Given the description of an element on the screen output the (x, y) to click on. 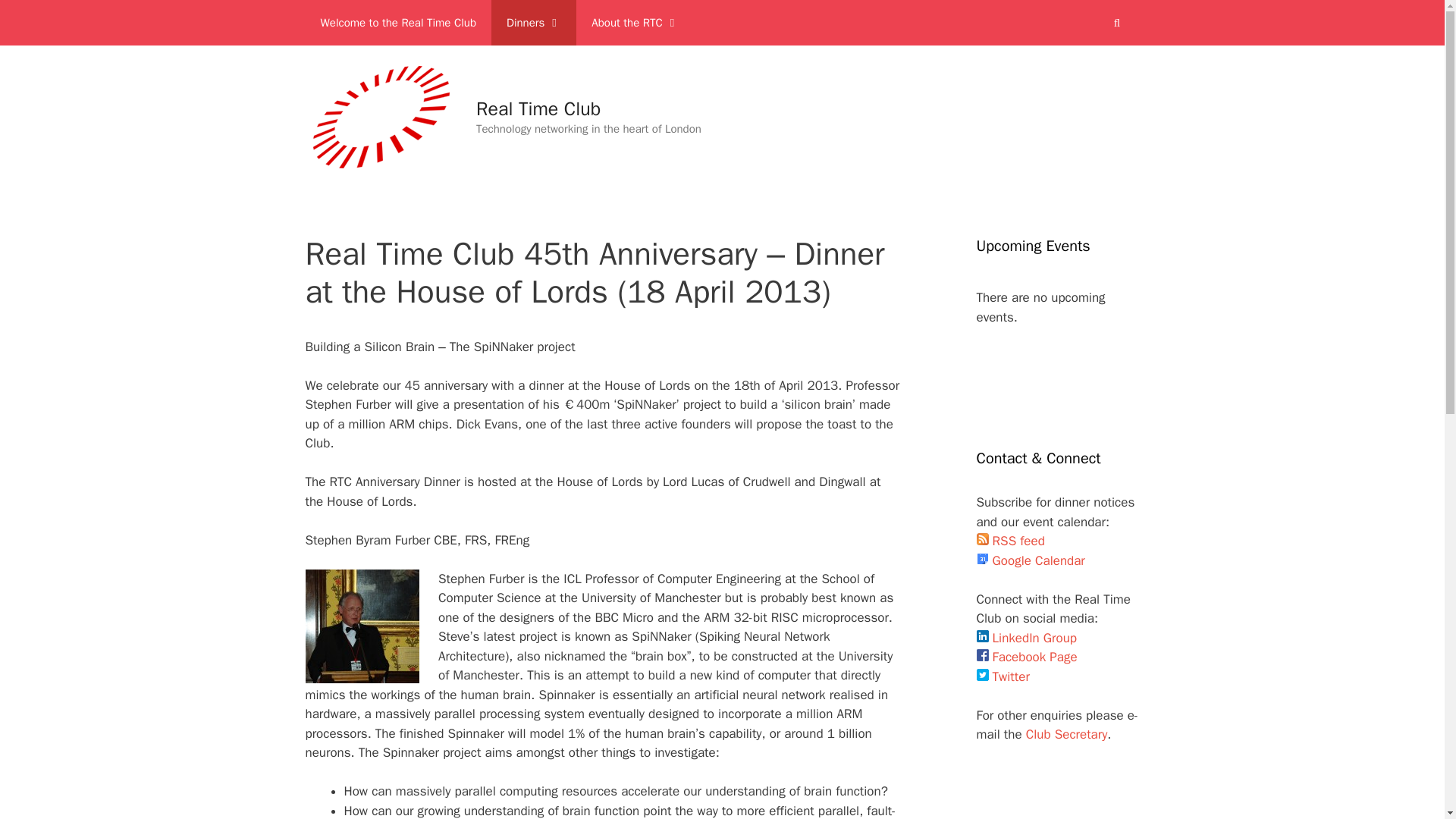
Google Calendar (1030, 560)
Stephen Furber, speaker at the RTC Anniversary Dinner. (361, 626)
Real Time Club (380, 117)
Real Time Club (537, 108)
Dinners (534, 22)
About the RTC (635, 22)
Club Secretary (1067, 734)
RSS feed (1010, 540)
Welcome to the Real Time Club (398, 22)
Twitter (1002, 676)
LinkedIn Group (1026, 637)
Facebook Page (1026, 657)
Real Time Club (380, 116)
